Given the description of an element on the screen output the (x, y) to click on. 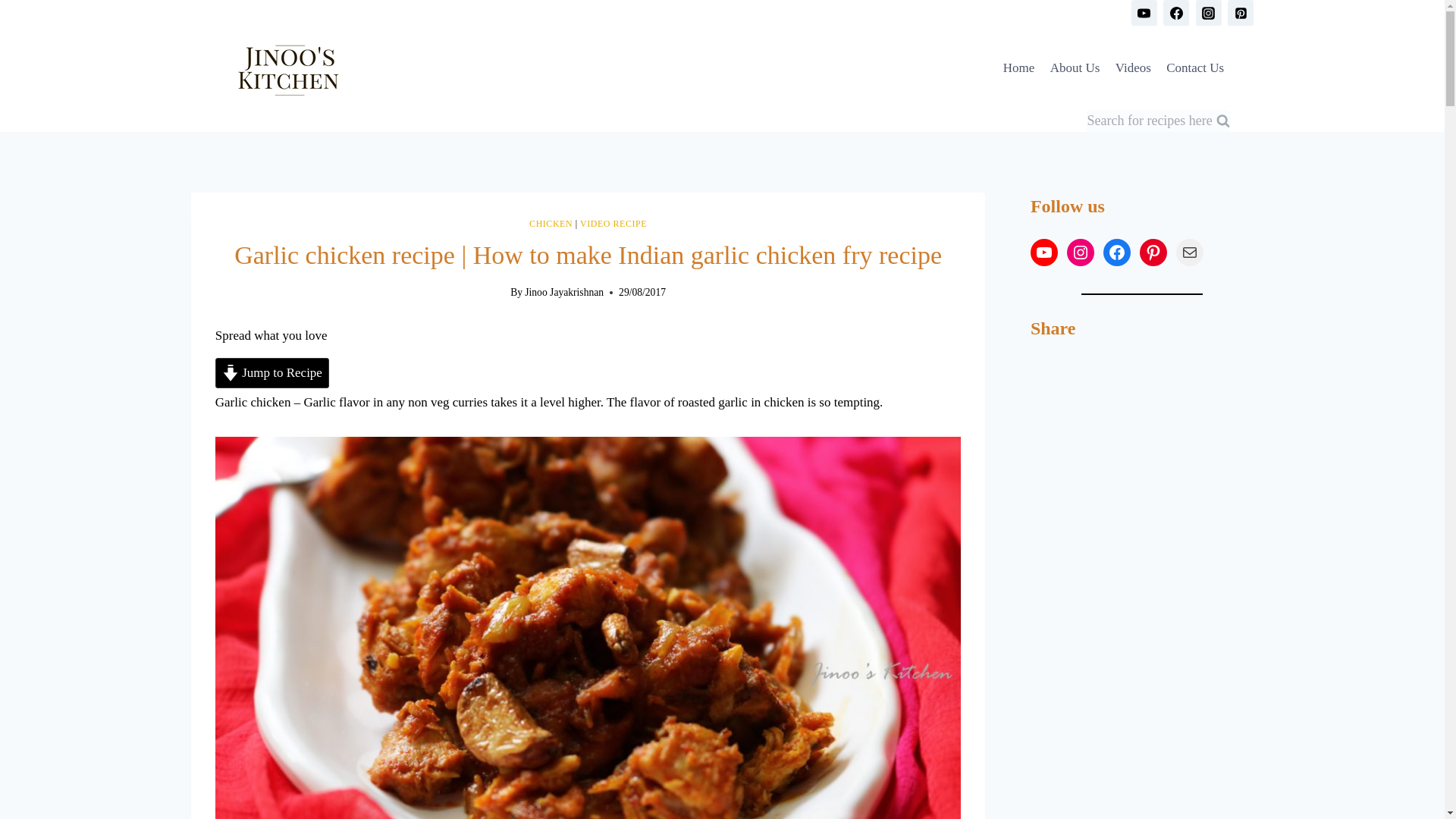
Home (1018, 67)
CHICKEN (550, 223)
About Us (1074, 67)
VIDEO RECIPE (612, 223)
Jump to Recipe (272, 372)
Jinoo Jayakrishnan (564, 292)
Search for recipes here (1158, 120)
Videos (1132, 67)
Contact Us (1194, 67)
